Given the description of an element on the screen output the (x, y) to click on. 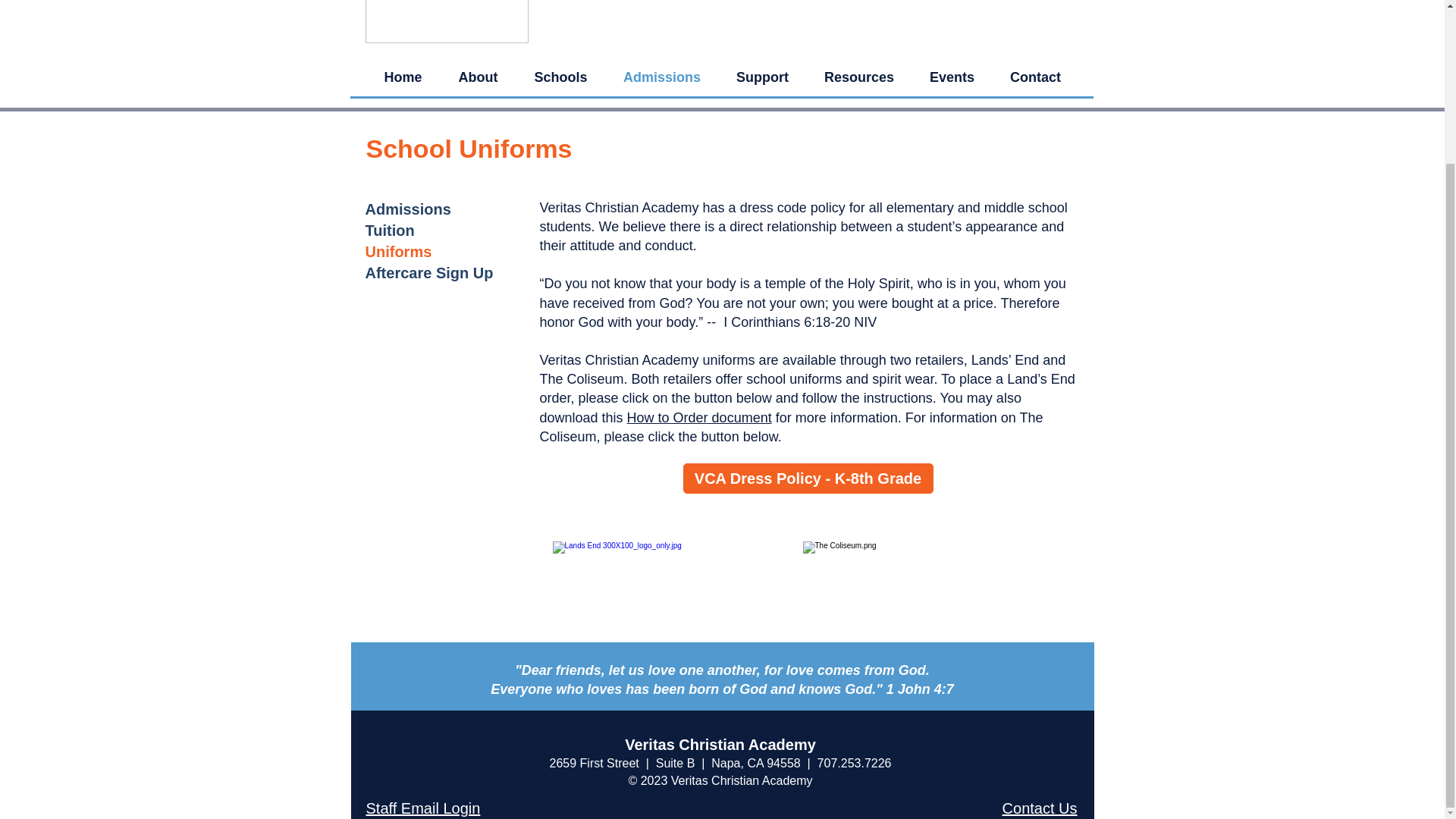
Contact (1034, 77)
Tuition (389, 230)
Resources (859, 77)
Uniforms (398, 251)
Staff Email Login (422, 808)
About (477, 77)
Support (762, 77)
How to Order document (699, 417)
Schools (560, 77)
Admissions (408, 208)
Contact Us (1040, 808)
Admissions (661, 77)
Home (402, 77)
Aftercare Sign Up (429, 272)
VCA Dress Policy - K-8th Grade (807, 478)
